Given the description of an element on the screen output the (x, y) to click on. 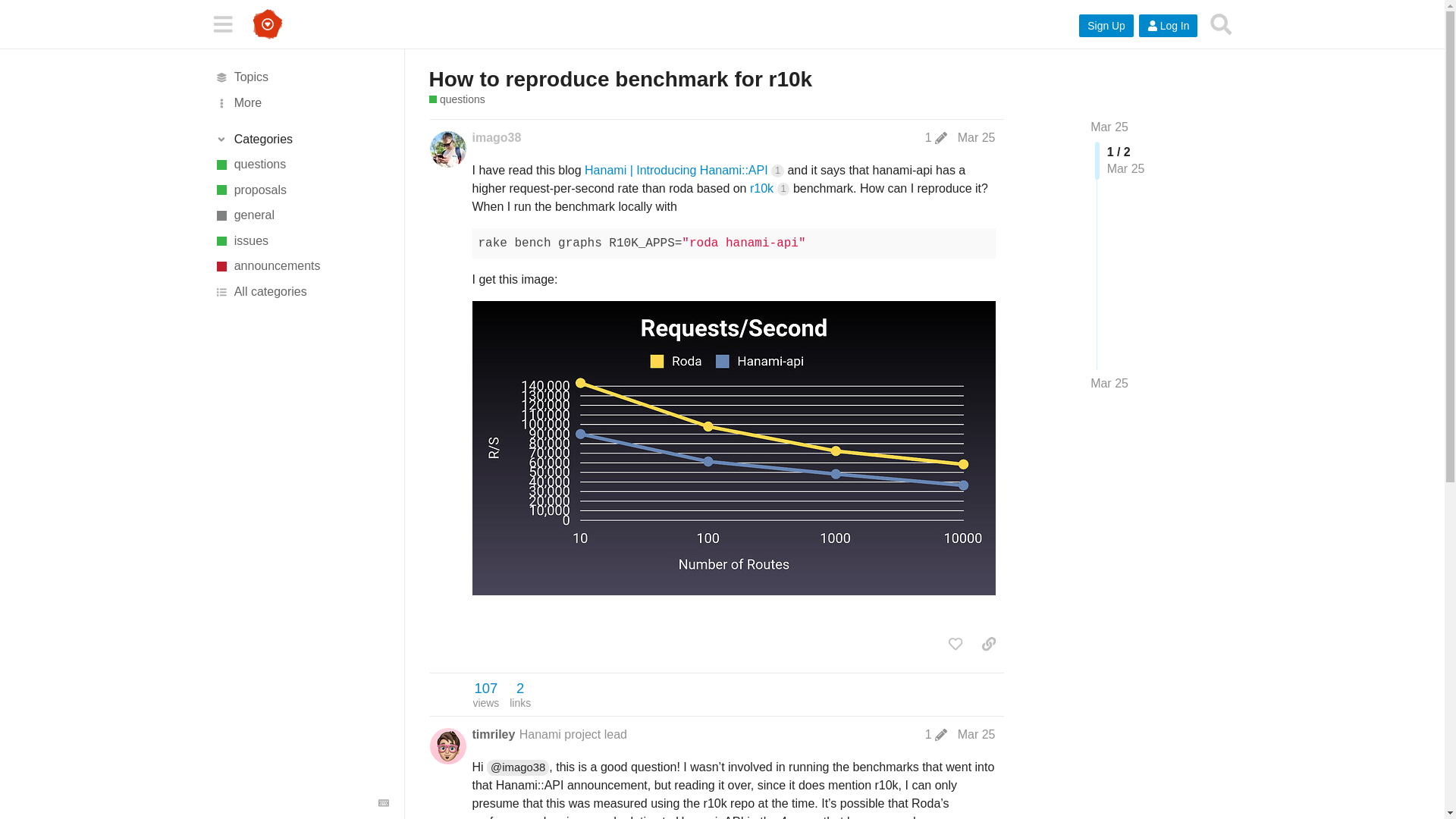
Categories (301, 139)
imago38 (496, 137)
r10k 1 (769, 187)
Jump to the last post (1109, 382)
Post date (976, 137)
How to reproduce benchmark for r10k (620, 78)
Search (1220, 23)
More (301, 103)
